Given the description of an element on the screen output the (x, y) to click on. 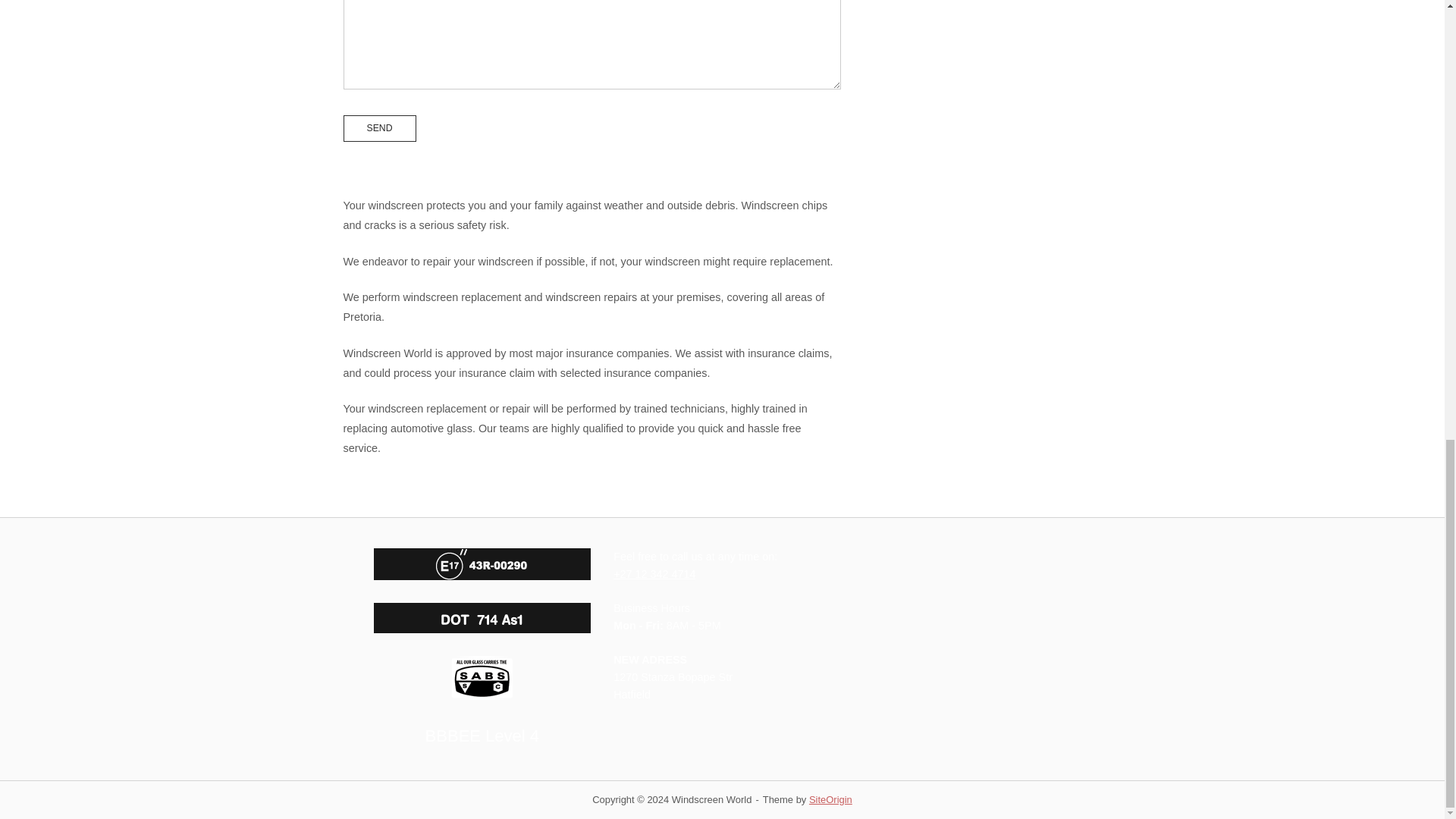
Send (378, 127)
Send (378, 127)
SiteOrigin (830, 799)
euro w (482, 563)
